Given the description of an element on the screen output the (x, y) to click on. 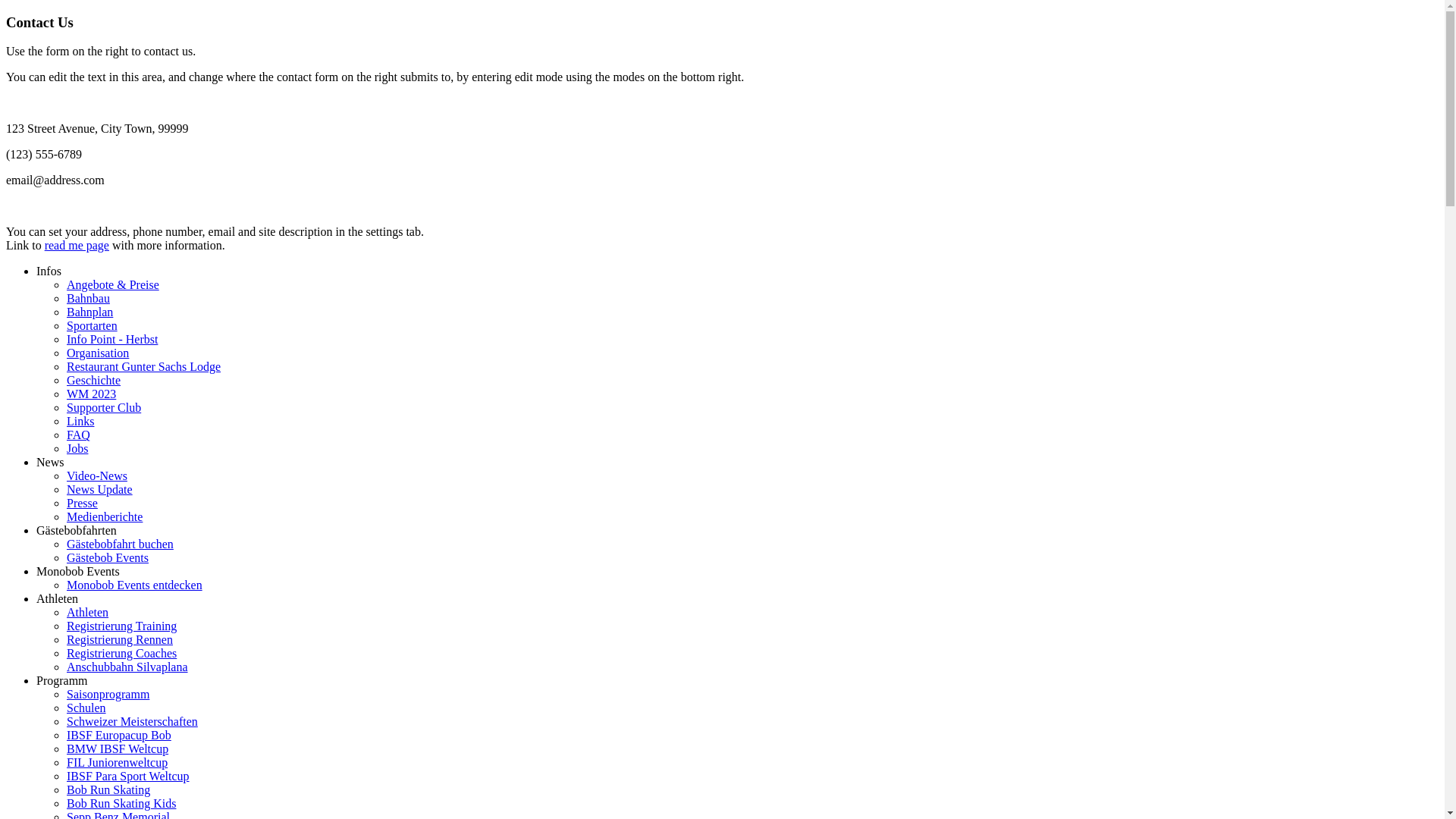
read me page Element type: text (76, 244)
Registrierung Training Element type: text (121, 625)
News Update Element type: text (99, 489)
Jobs Element type: text (76, 448)
Athleten Element type: text (57, 598)
Bahnplan Element type: text (89, 311)
Restaurant Gunter Sachs Lodge Element type: text (143, 366)
Bahnbau Element type: text (87, 297)
Schweizer Meisterschaften Element type: text (131, 721)
Infos Element type: text (48, 270)
Video-News Element type: text (96, 475)
Bob Run Skating Kids Element type: text (120, 803)
Saisonprogramm Element type: text (107, 693)
Presse Element type: text (81, 502)
Schulen Element type: text (86, 707)
Bob Run Skating Element type: text (108, 789)
FIL Juniorenweltcup Element type: text (116, 762)
IBSF Para Sport Weltcup Element type: text (127, 775)
Links Element type: text (80, 420)
Organisation Element type: text (97, 352)
Anschubbahn Silvaplana Element type: text (127, 666)
WM 2023 Element type: text (91, 393)
Supporter Club Element type: text (103, 407)
Monobob Events entdecken Element type: text (134, 584)
Sportarten Element type: text (91, 325)
FAQ Element type: text (78, 434)
Medienberichte Element type: text (104, 516)
Registrierung Rennen Element type: text (119, 639)
Programm Element type: text (61, 680)
Registrierung Coaches Element type: text (121, 652)
Info Point - Herbst Element type: text (111, 338)
News Element type: text (49, 461)
Geschichte Element type: text (93, 379)
Monobob Events Element type: text (77, 570)
Angebote & Preise Element type: text (112, 284)
BMW IBSF Weltcup Element type: text (117, 748)
IBSF Europacup Bob Element type: text (118, 734)
Athleten Element type: text (87, 611)
